Given the description of an element on the screen output the (x, y) to click on. 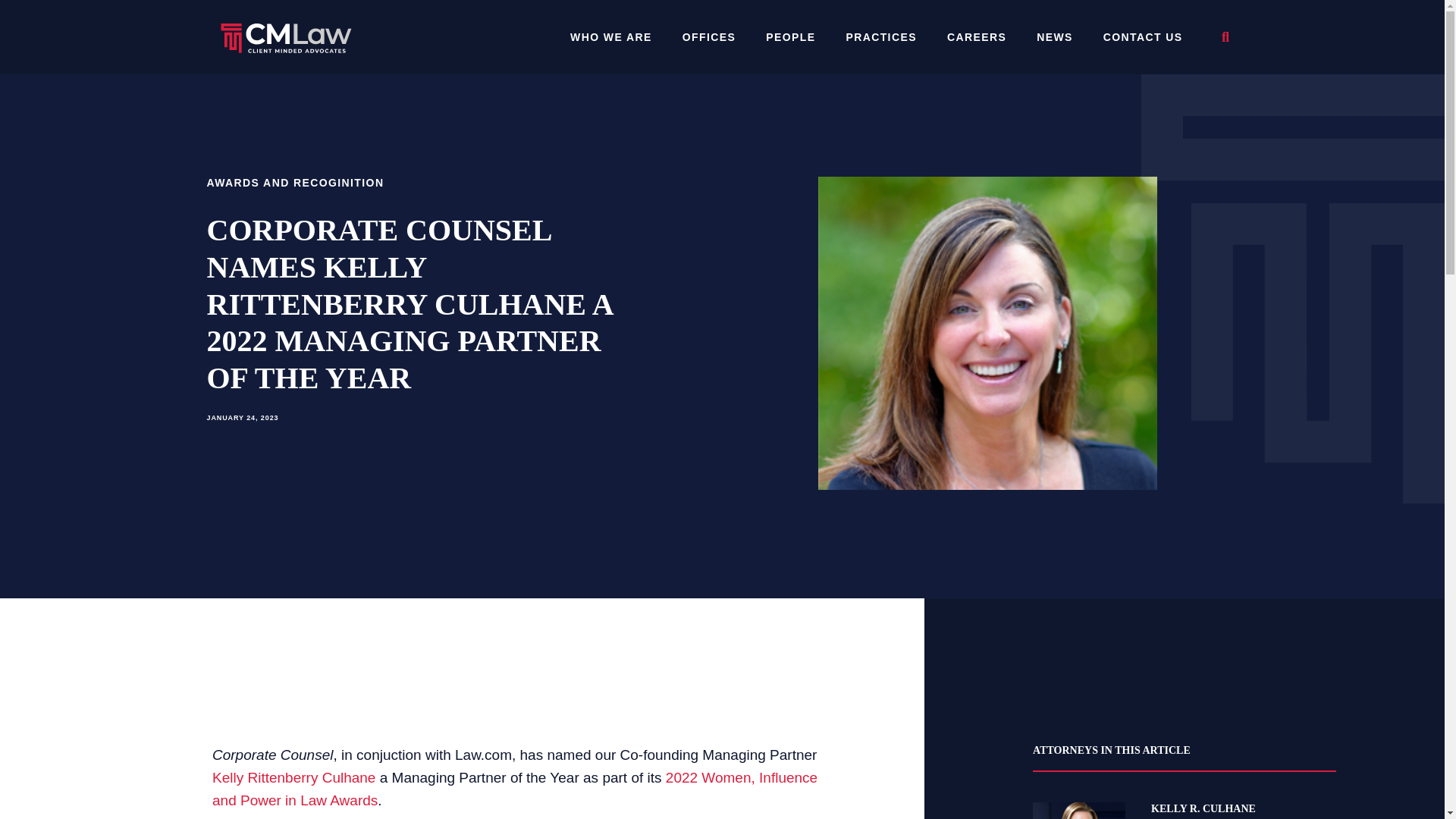
CONTACT US (1142, 37)
NEWS (1054, 37)
PEOPLE (790, 37)
Kelly R. Culhane (1243, 808)
OFFICES (708, 37)
PRACTICES (880, 37)
CAREERS (976, 37)
WHO WE ARE (610, 37)
Kelly R. Culhane (1078, 810)
